Given the description of an element on the screen output the (x, y) to click on. 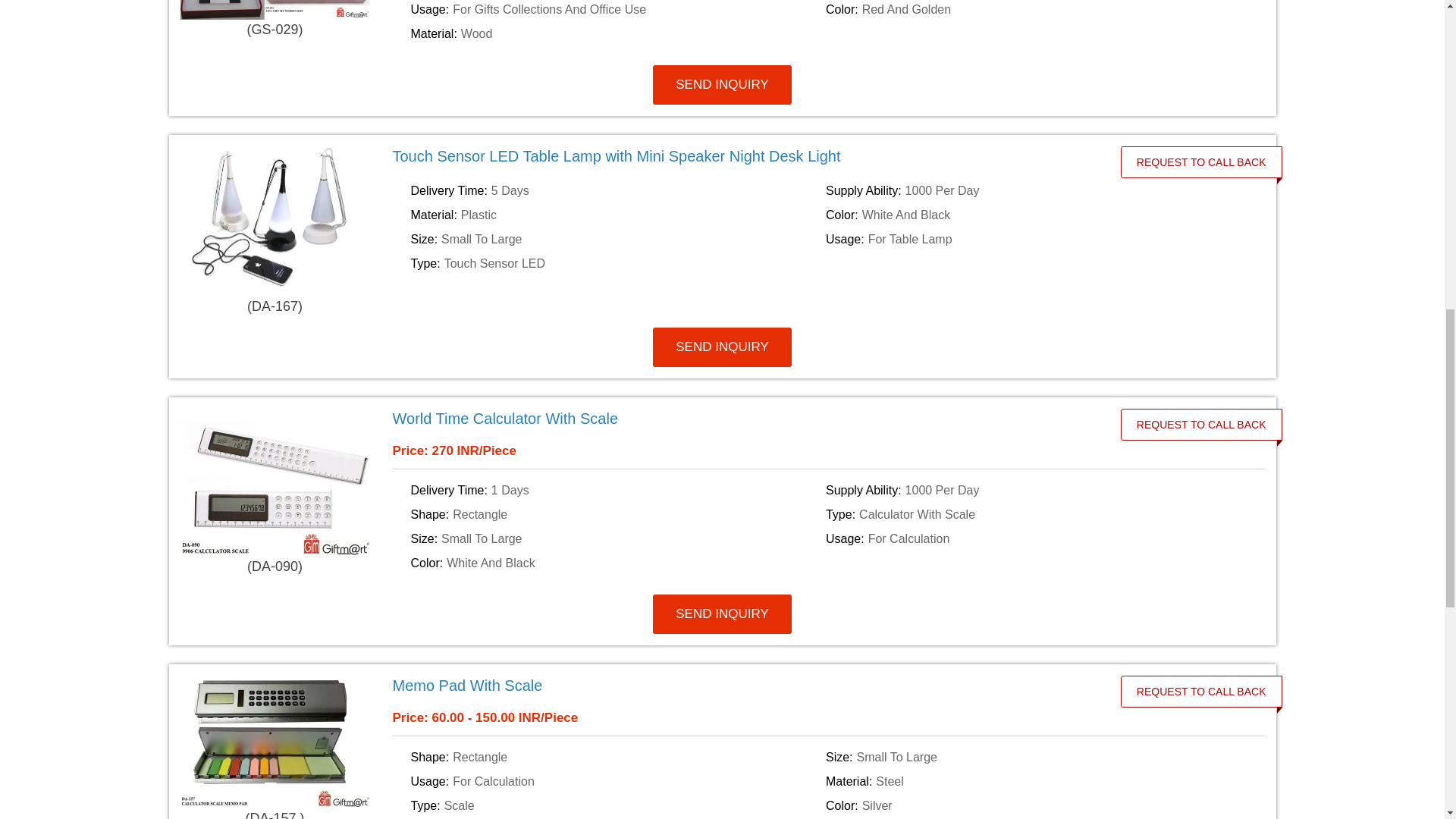
Material: Wood (615, 34)
Delivery Time: 5 Days (615, 190)
Color: Red And Golden (1029, 9)
Usage: For Gifts Collections And Office Use (615, 9)
